Given the description of an element on the screen output the (x, y) to click on. 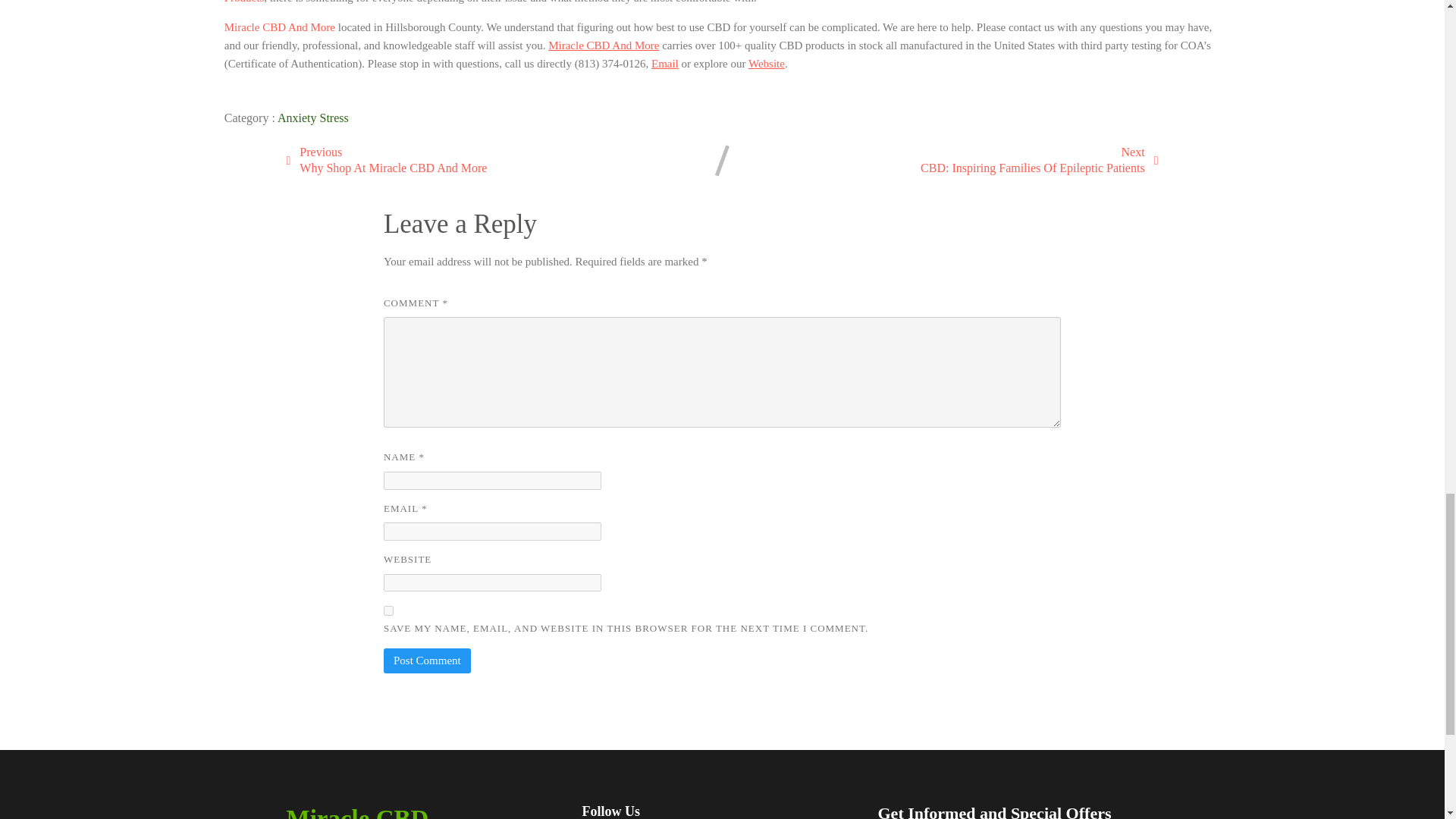
Post Comment (427, 660)
Stress (334, 117)
Post Comment (427, 660)
Miracle CBD And More (279, 27)
yes (1038, 160)
Website (388, 610)
Miracle CBD And More (386, 160)
